Given the description of an element on the screen output the (x, y) to click on. 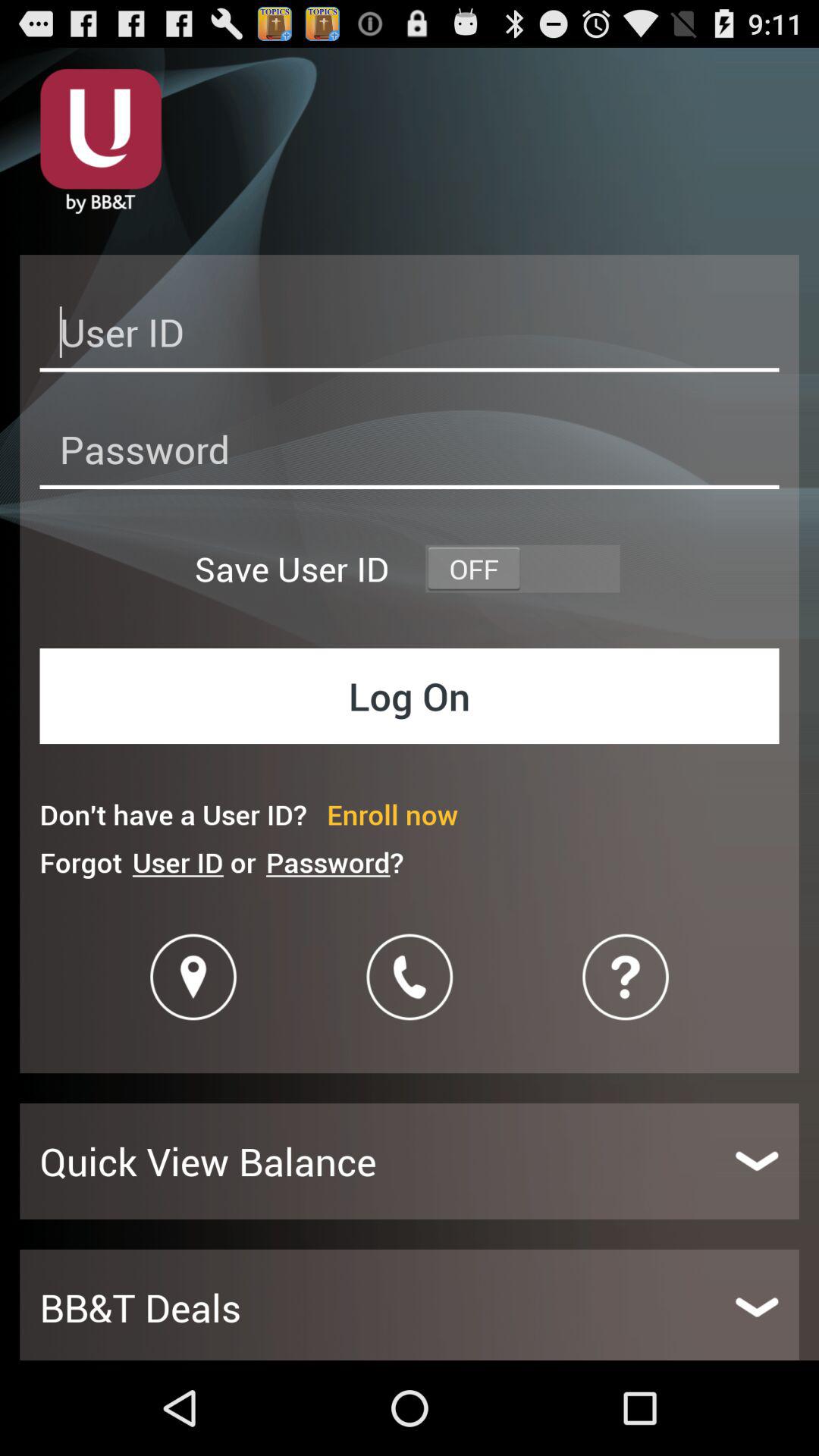
open the icon next to user id or icon (334, 861)
